Given the description of an element on the screen output the (x, y) to click on. 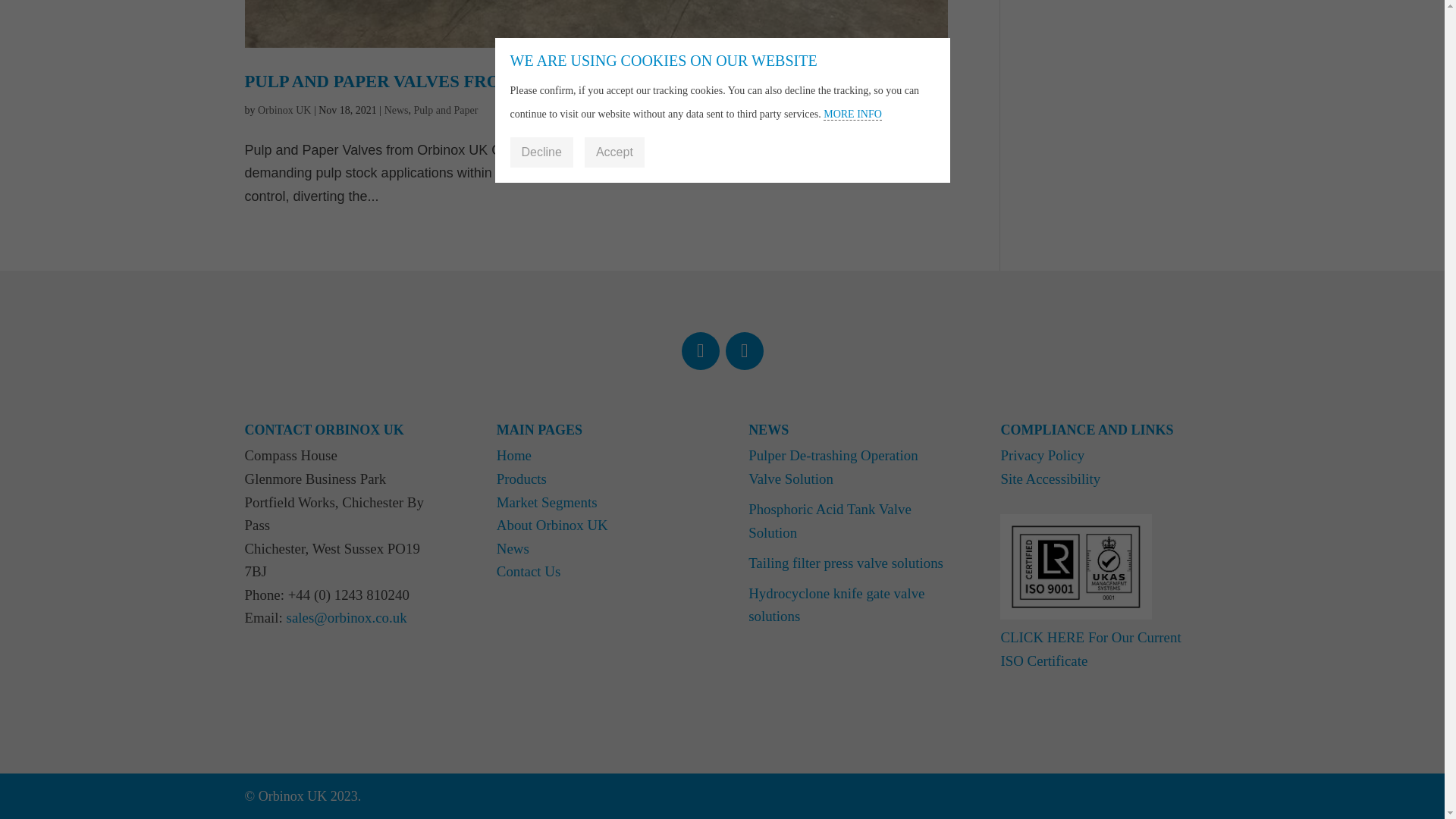
Follow on Youtube (743, 351)
Follow on LinkedIn (700, 351)
Posts by Orbinox UK (284, 110)
